Given the description of an element on the screen output the (x, y) to click on. 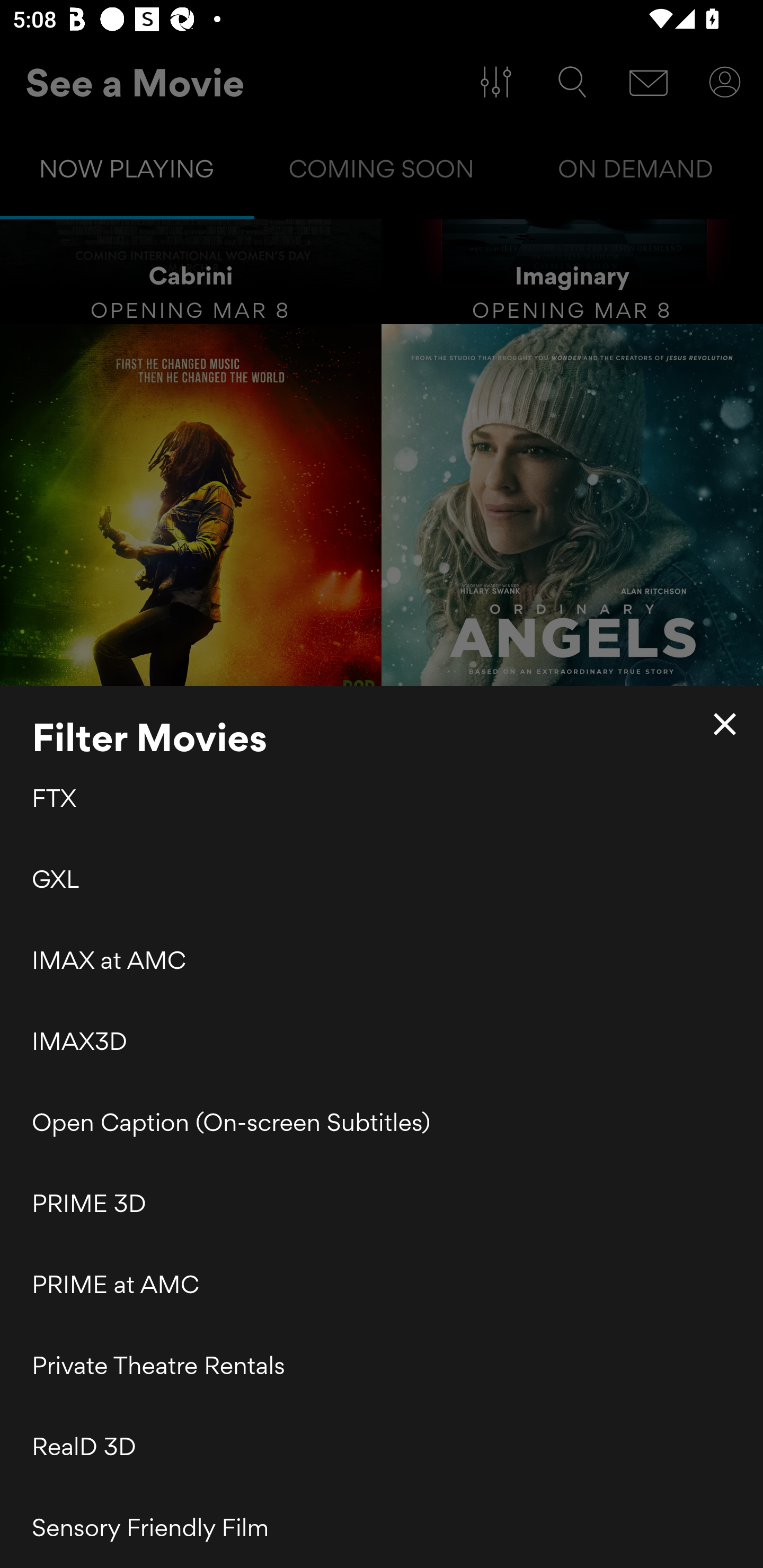
Close (724, 724)
FTX (381, 800)
GXL (381, 878)
IMAX at AMC (381, 959)
IMAX3D (381, 1040)
Open Caption (On-screen Subtitles) (381, 1122)
PRIME 3D (381, 1203)
PRIME at AMC (381, 1283)
Private Theatre Rentals (381, 1365)
RealD 3D (381, 1446)
Sensory Friendly Film (381, 1527)
